Given the description of an element on the screen output the (x, y) to click on. 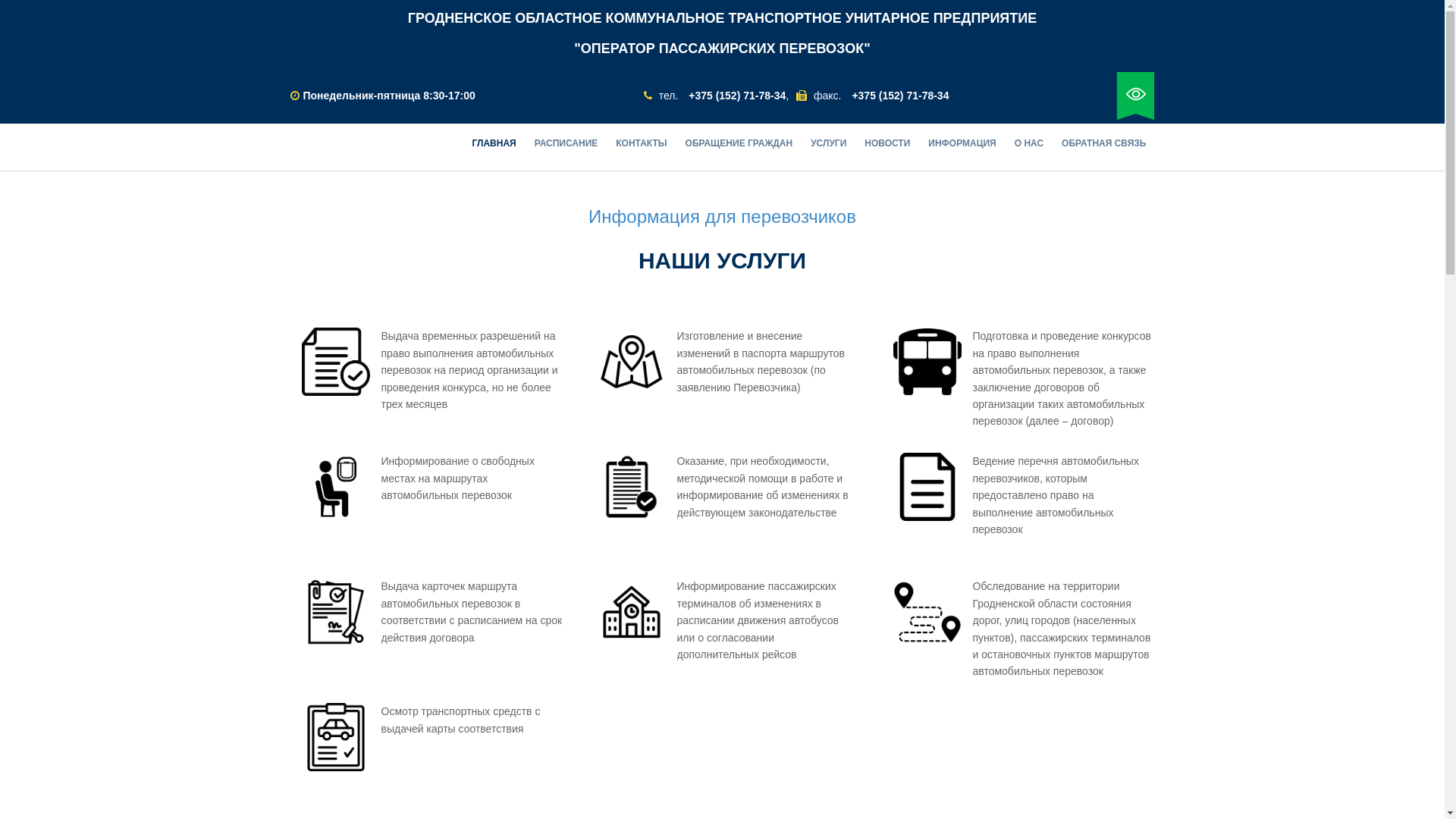
+375 (152) 71-78-34 Element type: text (899, 95)
+375 (152) 71-78-34 Element type: text (736, 95)
